Given the description of an element on the screen output the (x, y) to click on. 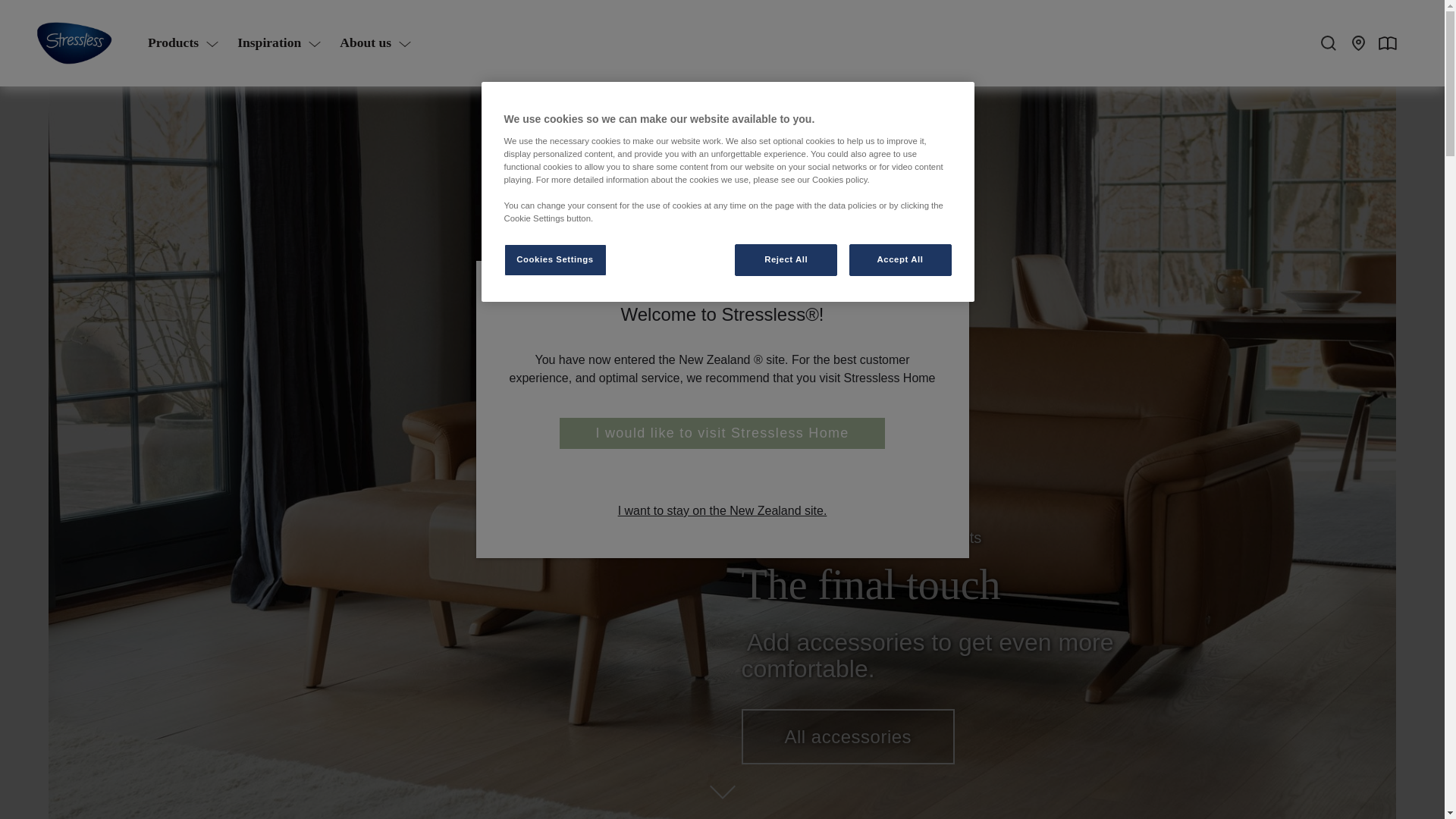
I want to stay on the New Zealand site. (722, 511)
Products (180, 43)
About us (373, 43)
All accessories (848, 736)
I would like to visit Stressless Home (721, 432)
Inspiration (276, 43)
